Given the description of an element on the screen output the (x, y) to click on. 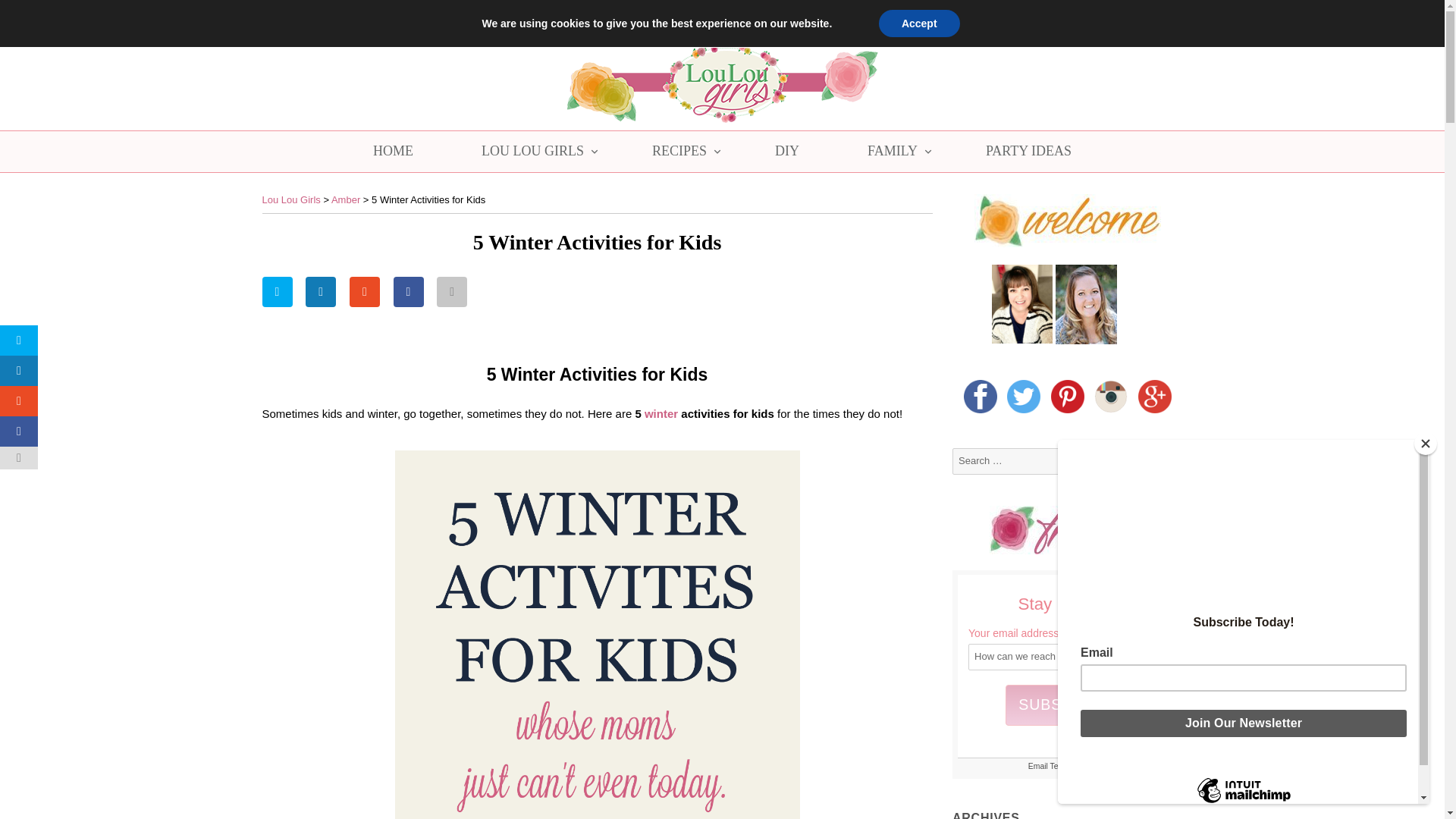
DIY (786, 151)
Pinterest (1114, 16)
Facebook (1060, 15)
PARTY IDEAS (1028, 151)
Subscribe! (1067, 705)
Facebook (1059, 16)
HOME (392, 151)
RECIPES (679, 151)
theloulougirls.com (302, 12)
Go to Lou Lou Girls. (291, 199)
Lou Lou Girls (291, 199)
click to join (1067, 705)
Amber (345, 199)
Twitter (1087, 15)
FAMILY (892, 151)
